Given the description of an element on the screen output the (x, y) to click on. 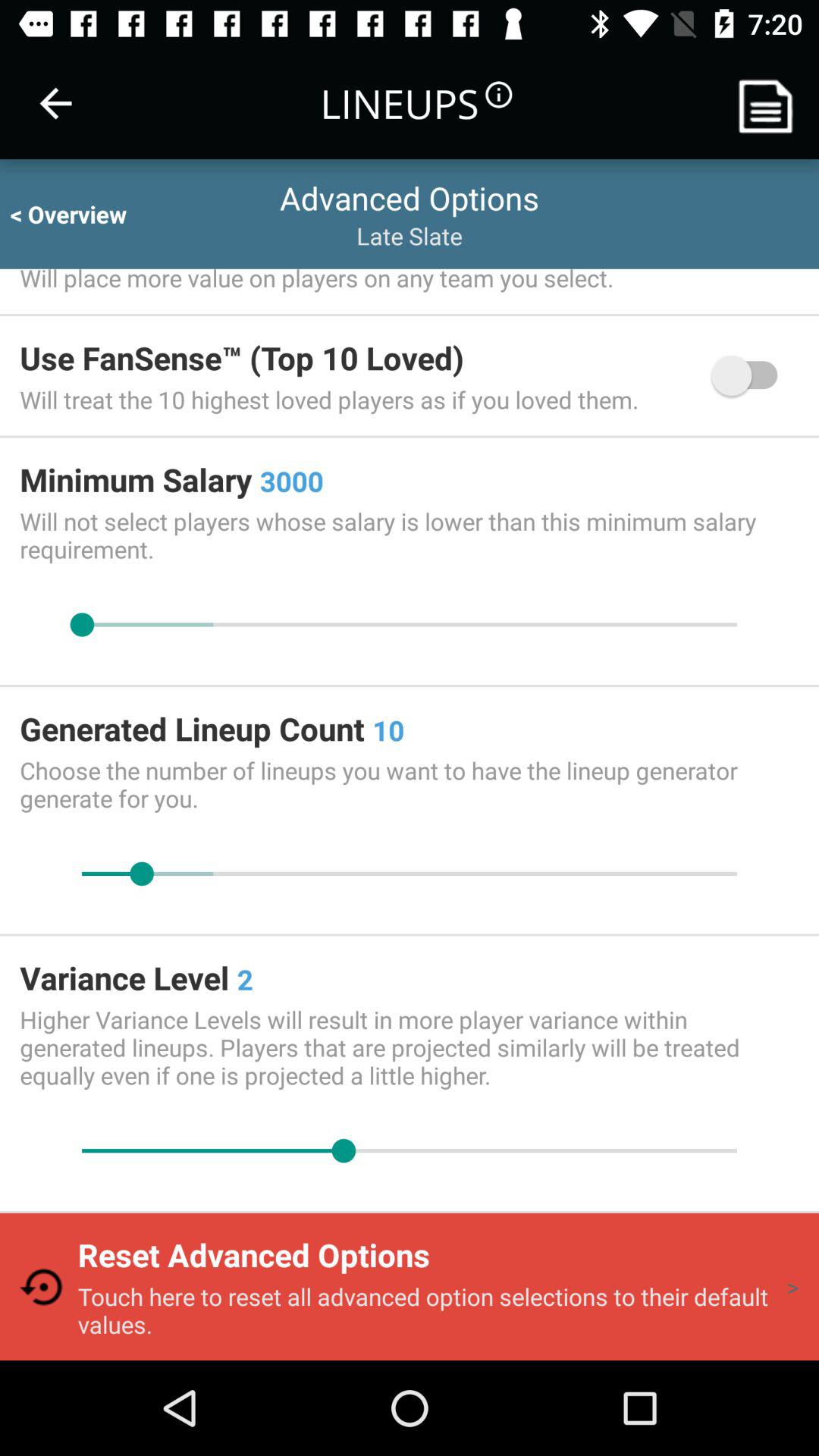
this is a top 10 loves (751, 375)
